Given the description of an element on the screen output the (x, y) to click on. 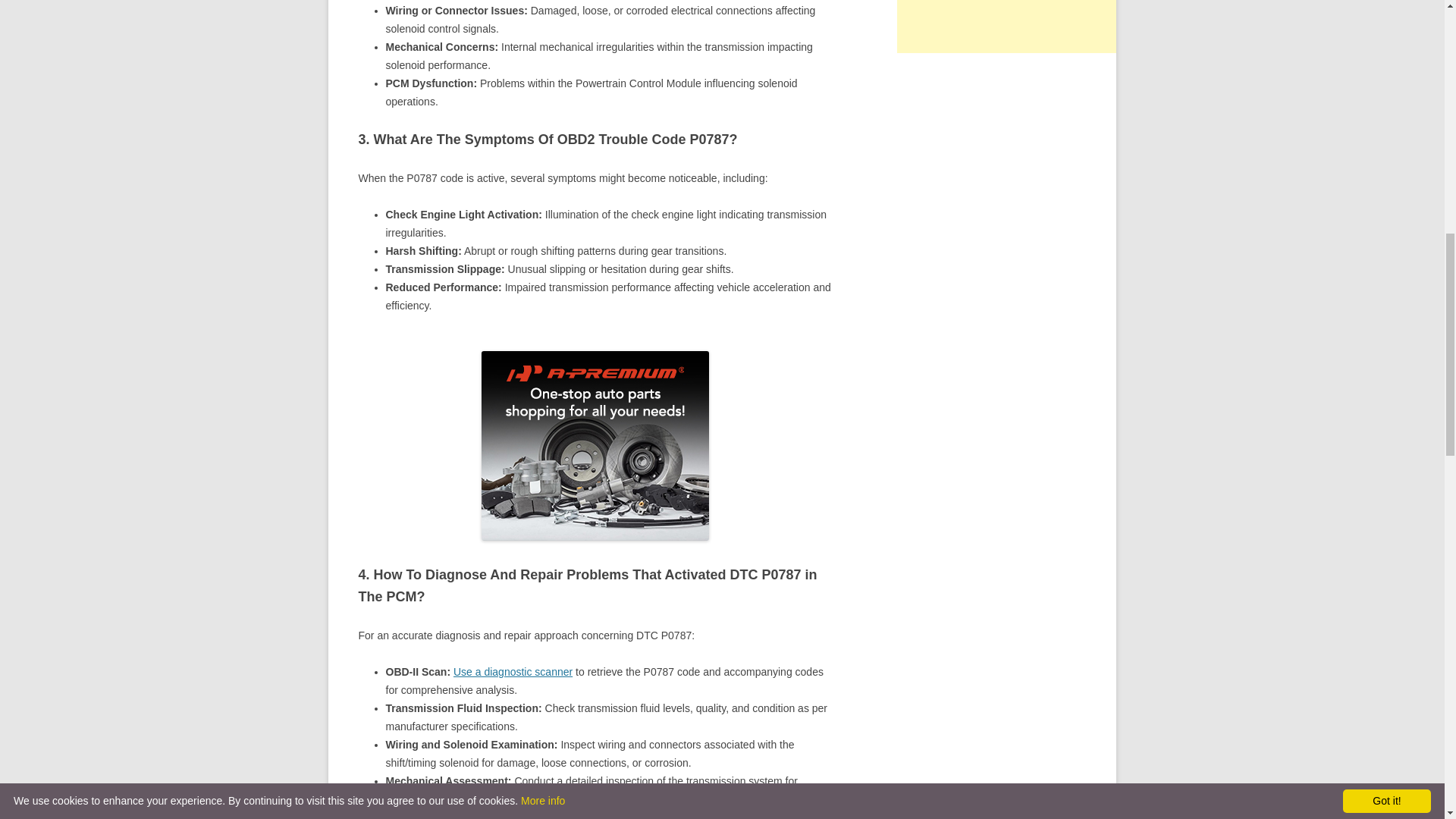
Advertisement (1010, 26)
Use a diagnostic scanner (512, 671)
